Given the description of an element on the screen output the (x, y) to click on. 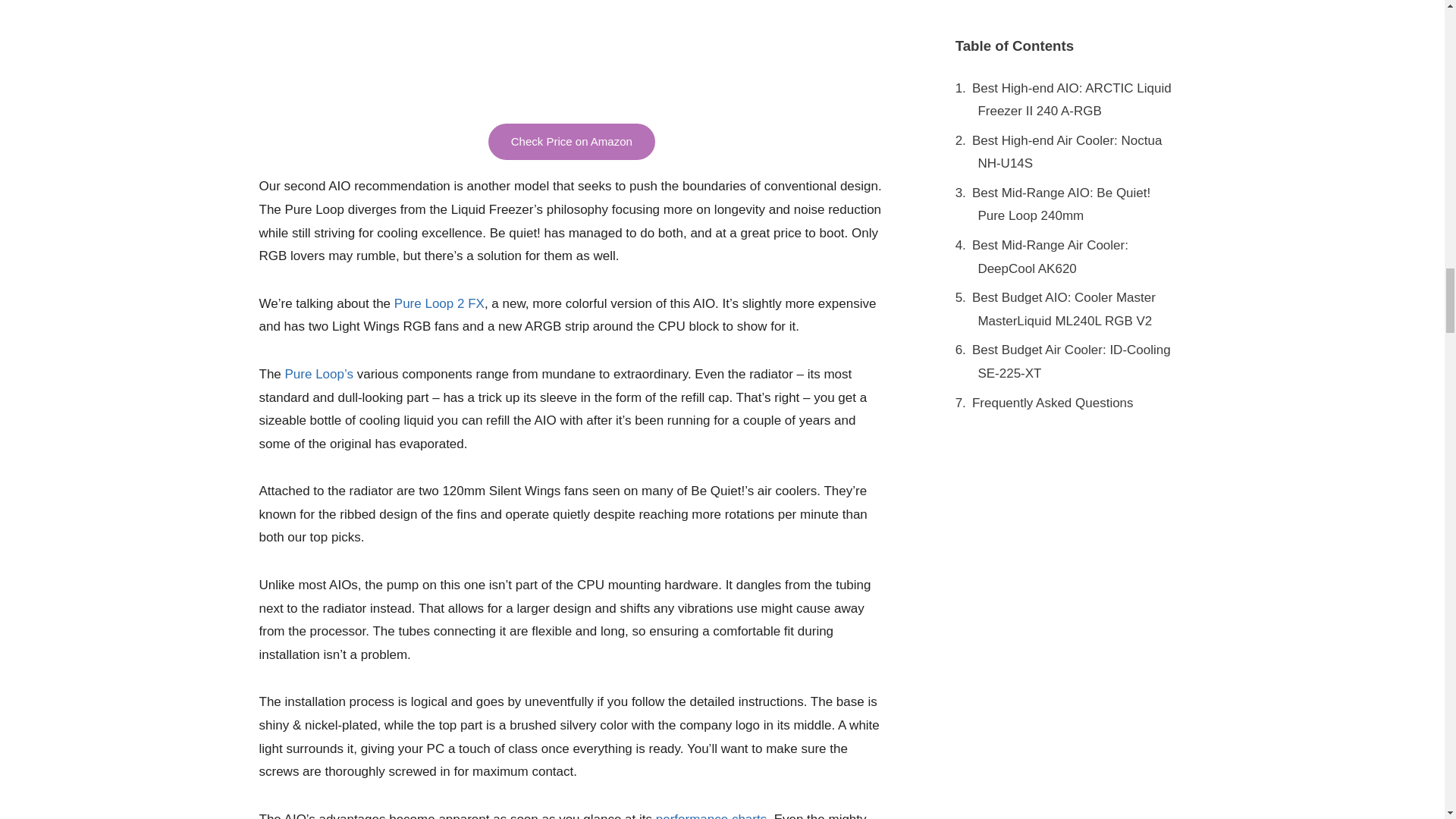
performance charts (711, 815)
Pure Loop 2 FX (439, 303)
Check Price on Amazon (571, 141)
